Given the description of an element on the screen output the (x, y) to click on. 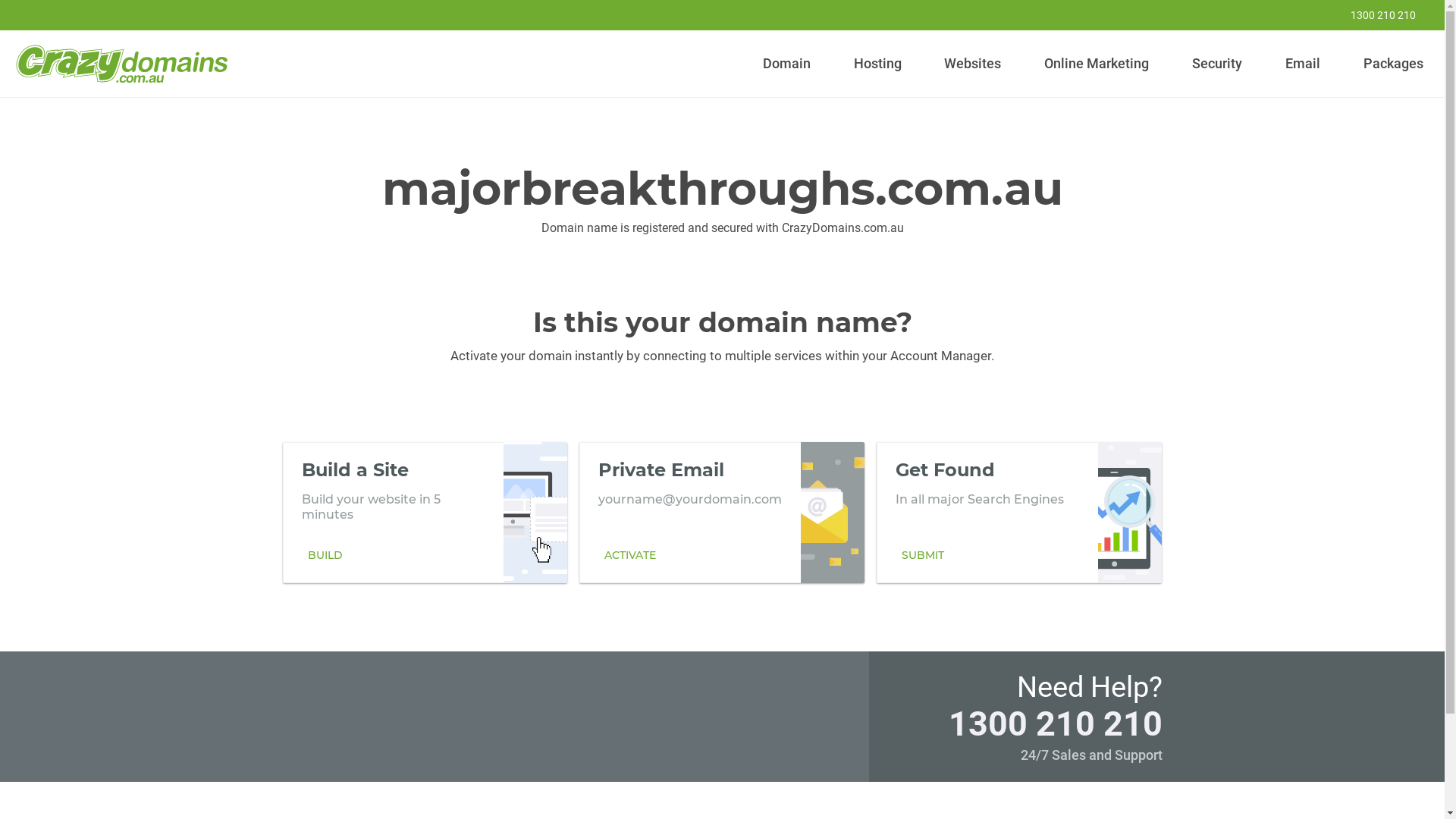
Email Element type: text (1302, 63)
1300 210 210 Element type: text (1373, 15)
Build a Site
Build your website in 5 minutes
BUILD Element type: text (424, 511)
Hosting Element type: text (877, 63)
Security Element type: text (1217, 63)
Get Found
In all major Search Engines
SUBMIT Element type: text (1018, 511)
Online Marketing Element type: text (1096, 63)
Packages Element type: text (1392, 63)
Private Email
yourname@yourdomain.com
ACTIVATE Element type: text (721, 511)
Domain Element type: text (786, 63)
1300 210 210 Element type: text (1054, 723)
Websites Element type: text (972, 63)
